Given the description of an element on the screen output the (x, y) to click on. 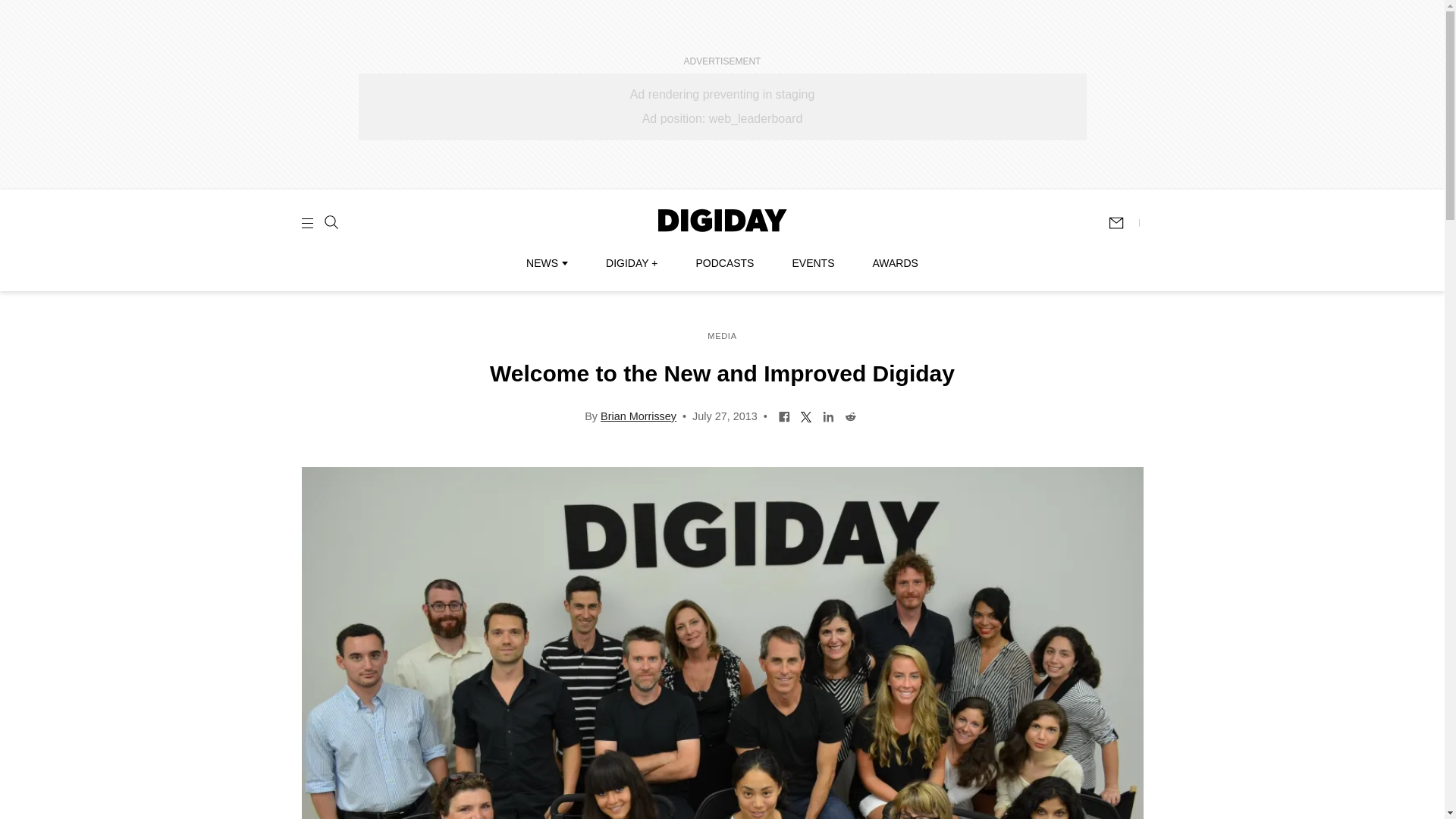
Share on Reddit (850, 415)
Share on Facebook (783, 415)
EVENTS (813, 262)
AWARDS (894, 262)
NEWS (546, 262)
Share on LinkedIn (828, 415)
Subscribe (1123, 223)
Share on Twitter (805, 415)
PODCASTS (725, 262)
